Given the description of an element on the screen output the (x, y) to click on. 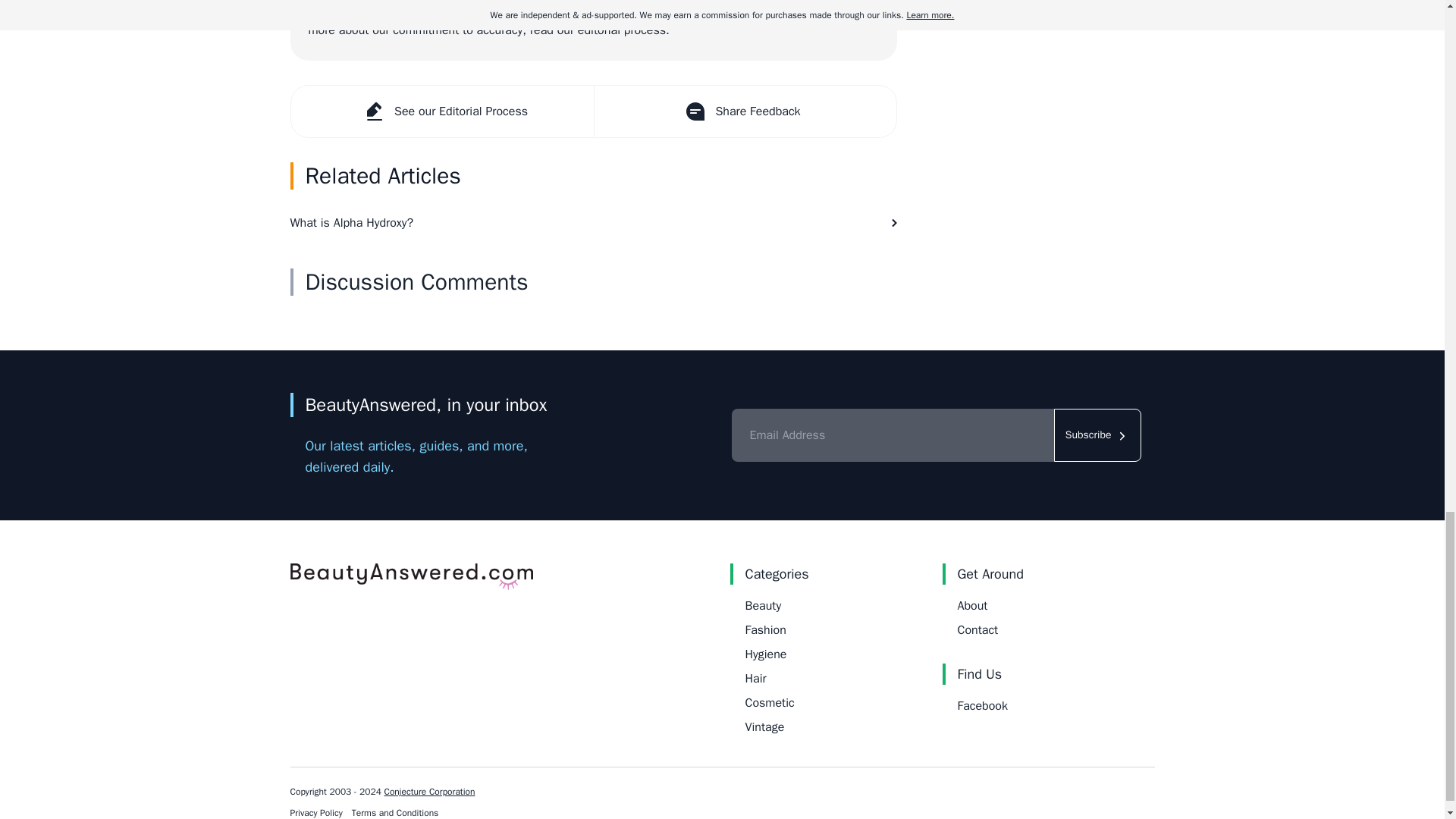
Share Feedback (743, 111)
What is Alpha Hydroxy? (592, 222)
See our Editorial Process (442, 111)
